Given the description of an element on the screen output the (x, y) to click on. 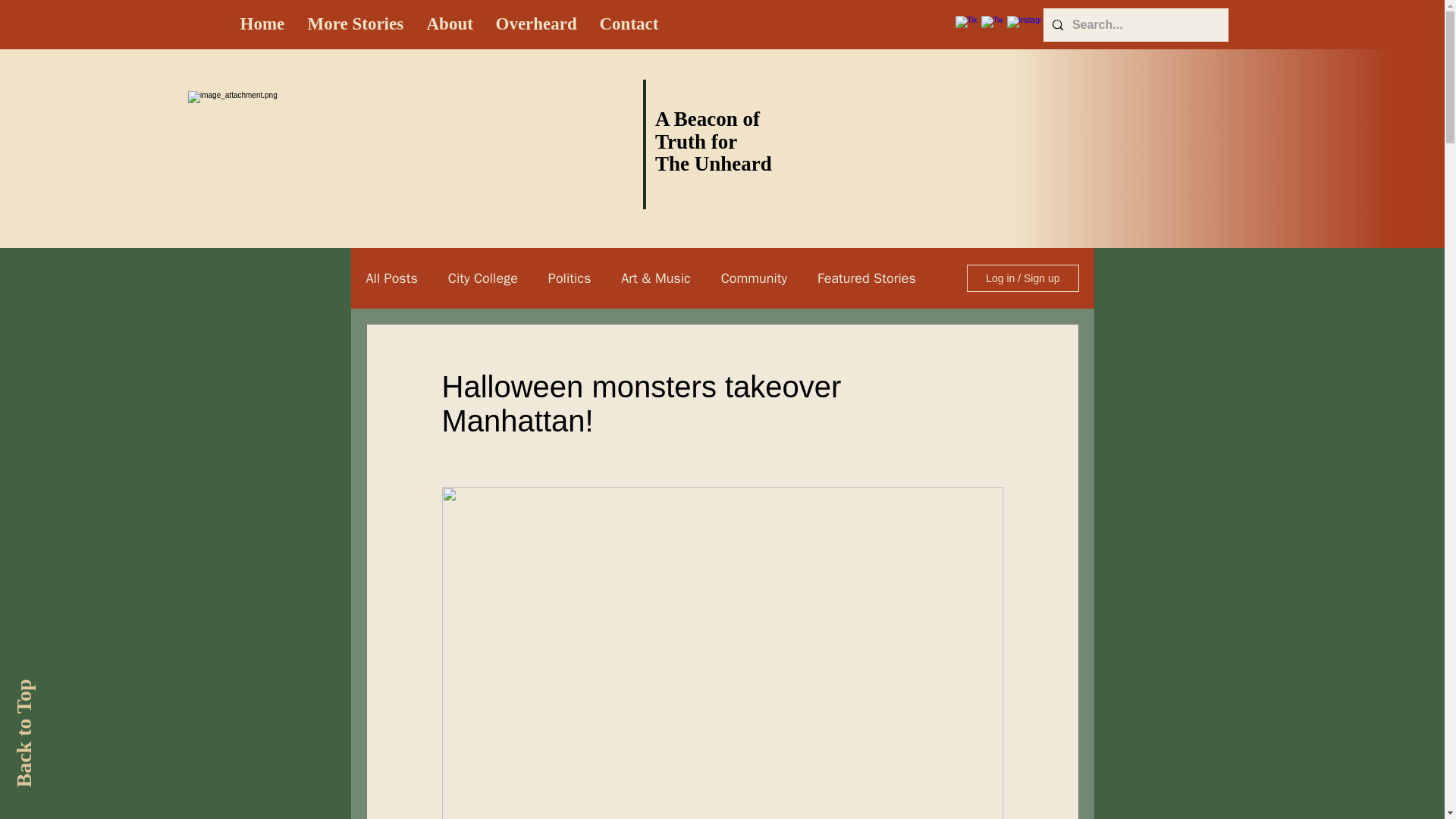
Politics (569, 278)
City College (483, 278)
Contact (628, 24)
Back to Top (65, 689)
All Posts (390, 278)
Overheard (535, 24)
Home (262, 24)
More Stories (354, 24)
About (449, 24)
Community (753, 278)
